Given the description of an element on the screen output the (x, y) to click on. 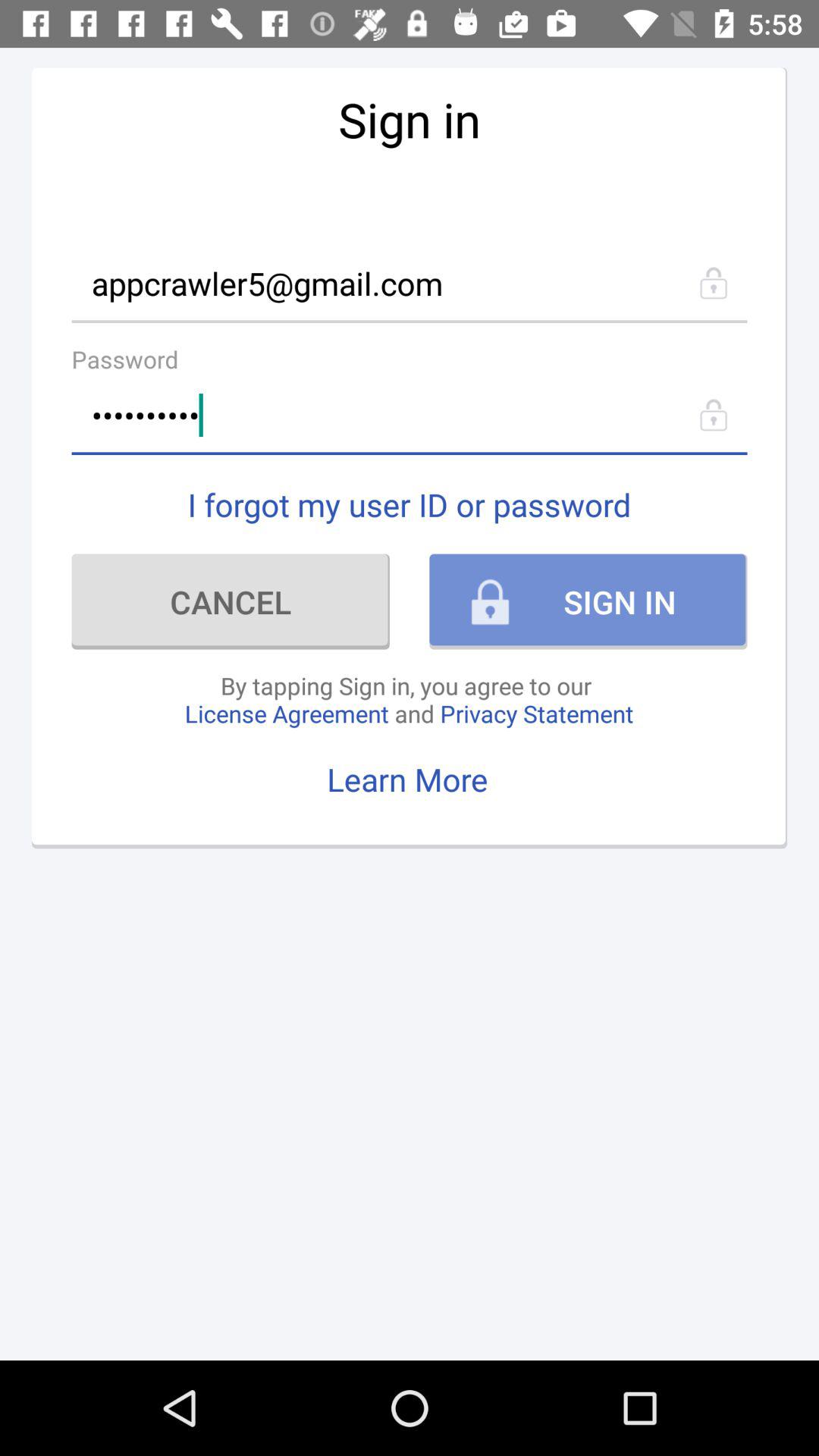
choose icon to the left of the sign in (230, 601)
